Given the description of an element on the screen output the (x, y) to click on. 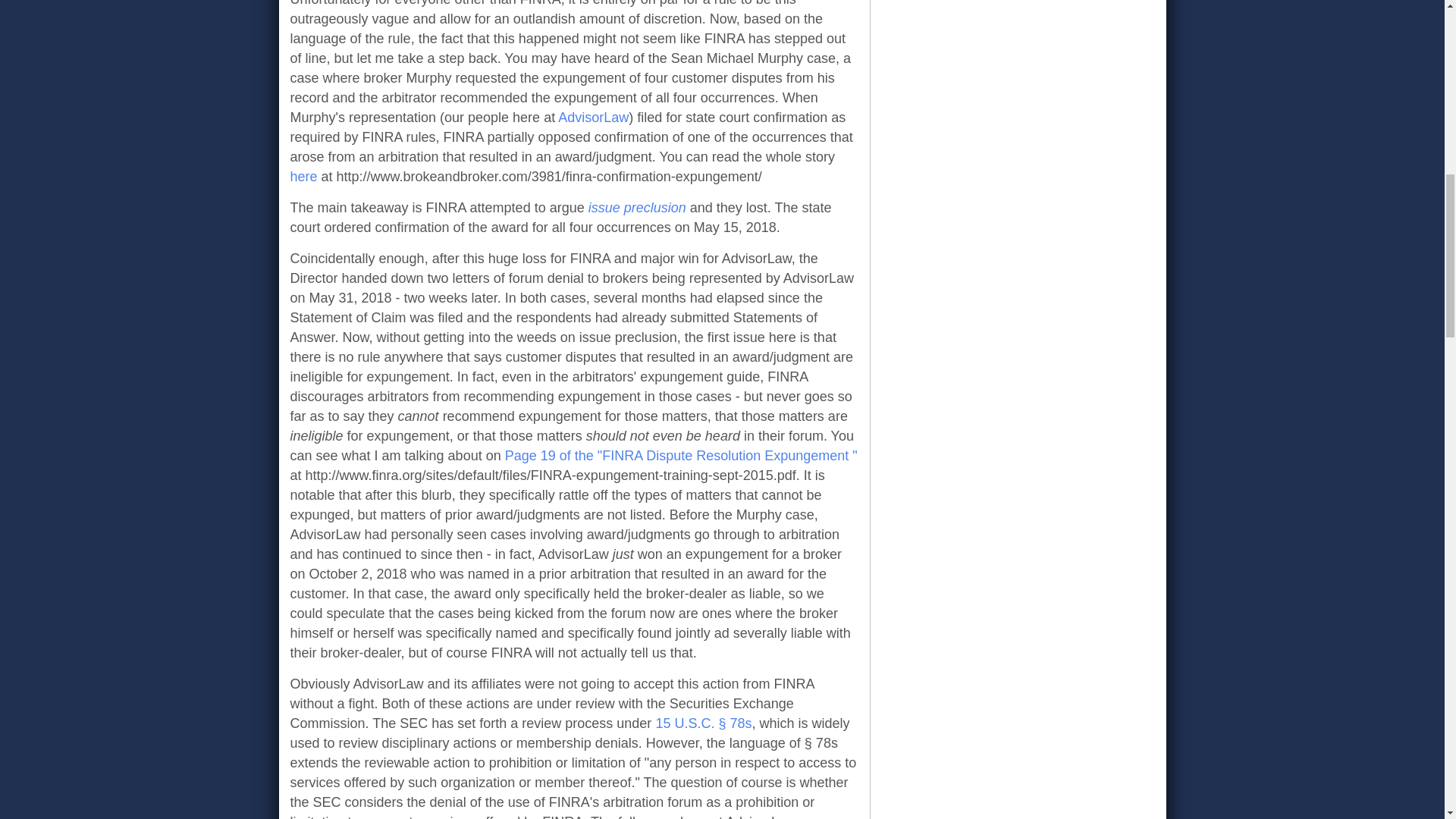
here (303, 176)
Page 19 of the "FINRA Dispute Resolution Expungement " (681, 455)
AdvisorLaw (592, 117)
issue preclusion (636, 207)
